Given the description of an element on the screen output the (x, y) to click on. 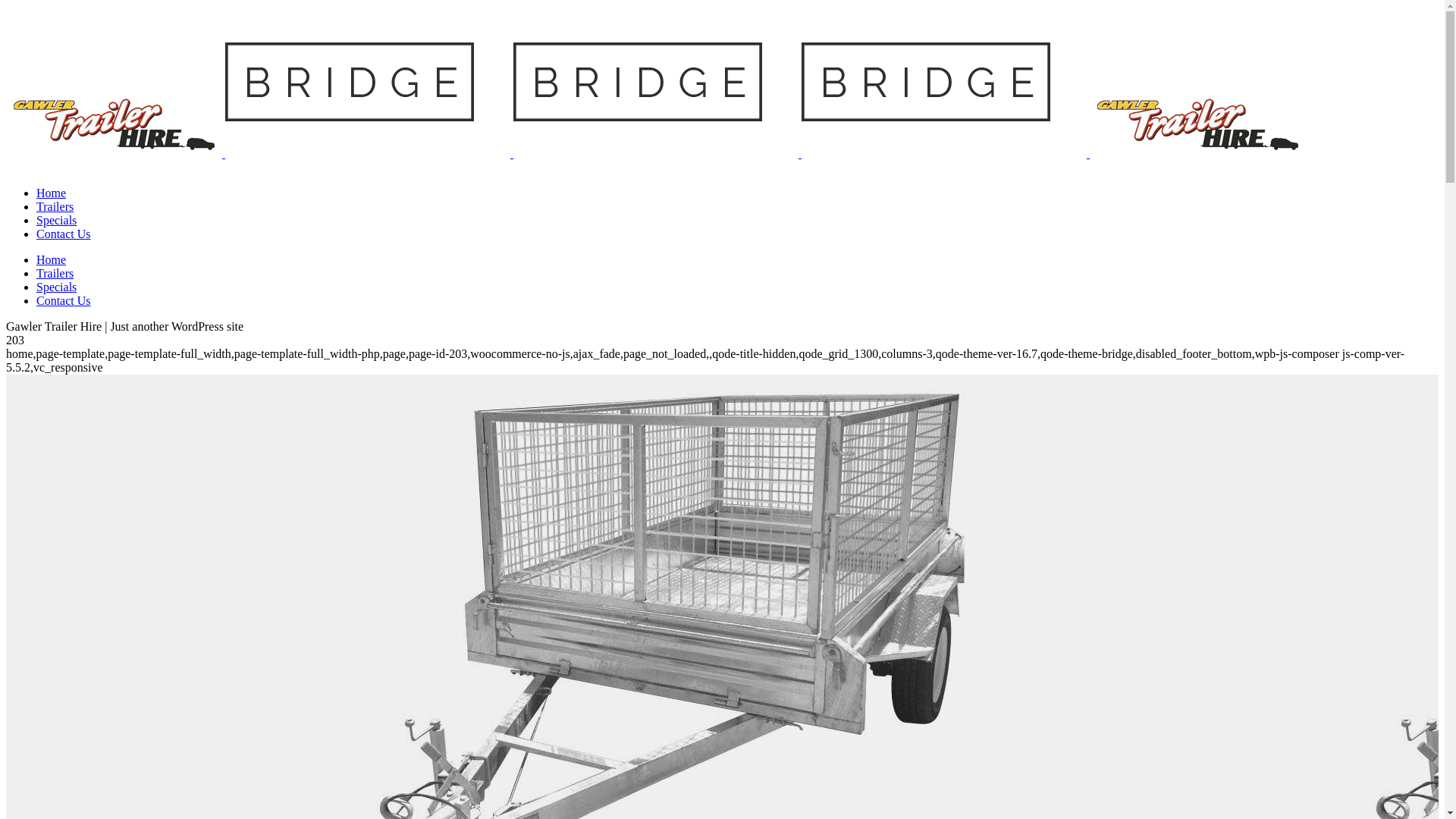
Home Element type: text (50, 259)
Trailers Element type: text (54, 272)
Specials Element type: text (56, 286)
Trailers Element type: text (54, 206)
Contact Us Element type: text (63, 233)
Contact Us Element type: text (63, 300)
Specials Element type: text (56, 219)
Home Element type: text (50, 192)
